Given the description of an element on the screen output the (x, y) to click on. 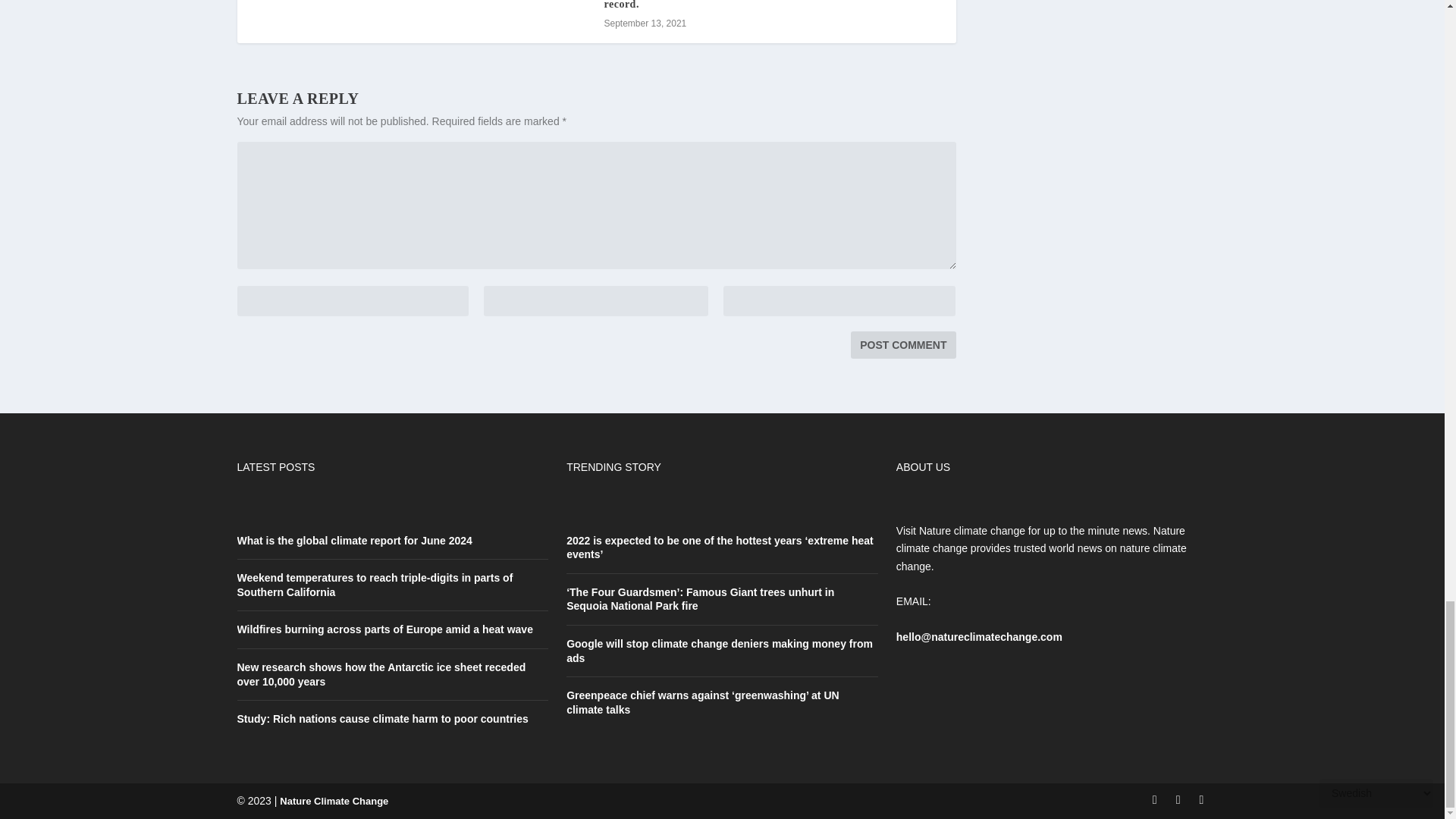
Post Comment (902, 344)
